Given the description of an element on the screen output the (x, y) to click on. 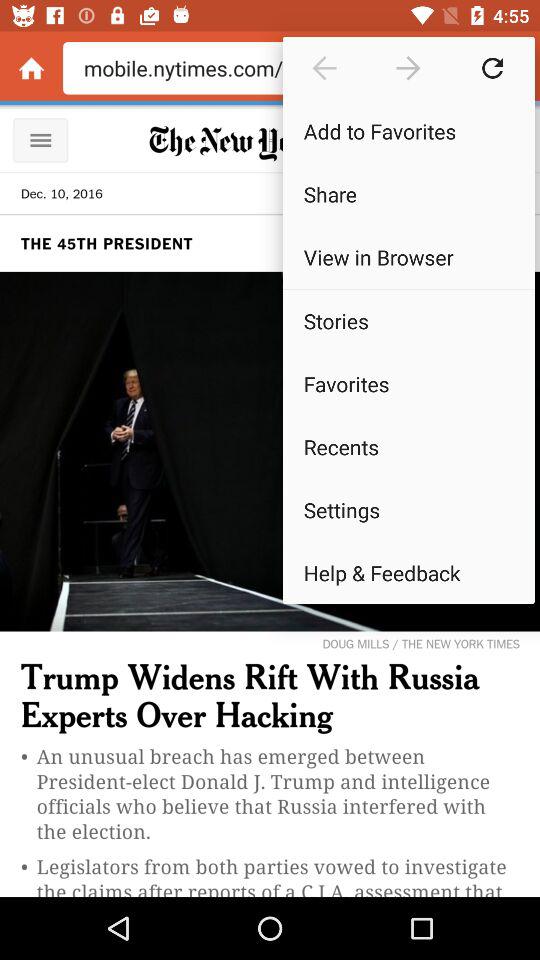
go forward (408, 67)
